Given the description of an element on the screen output the (x, y) to click on. 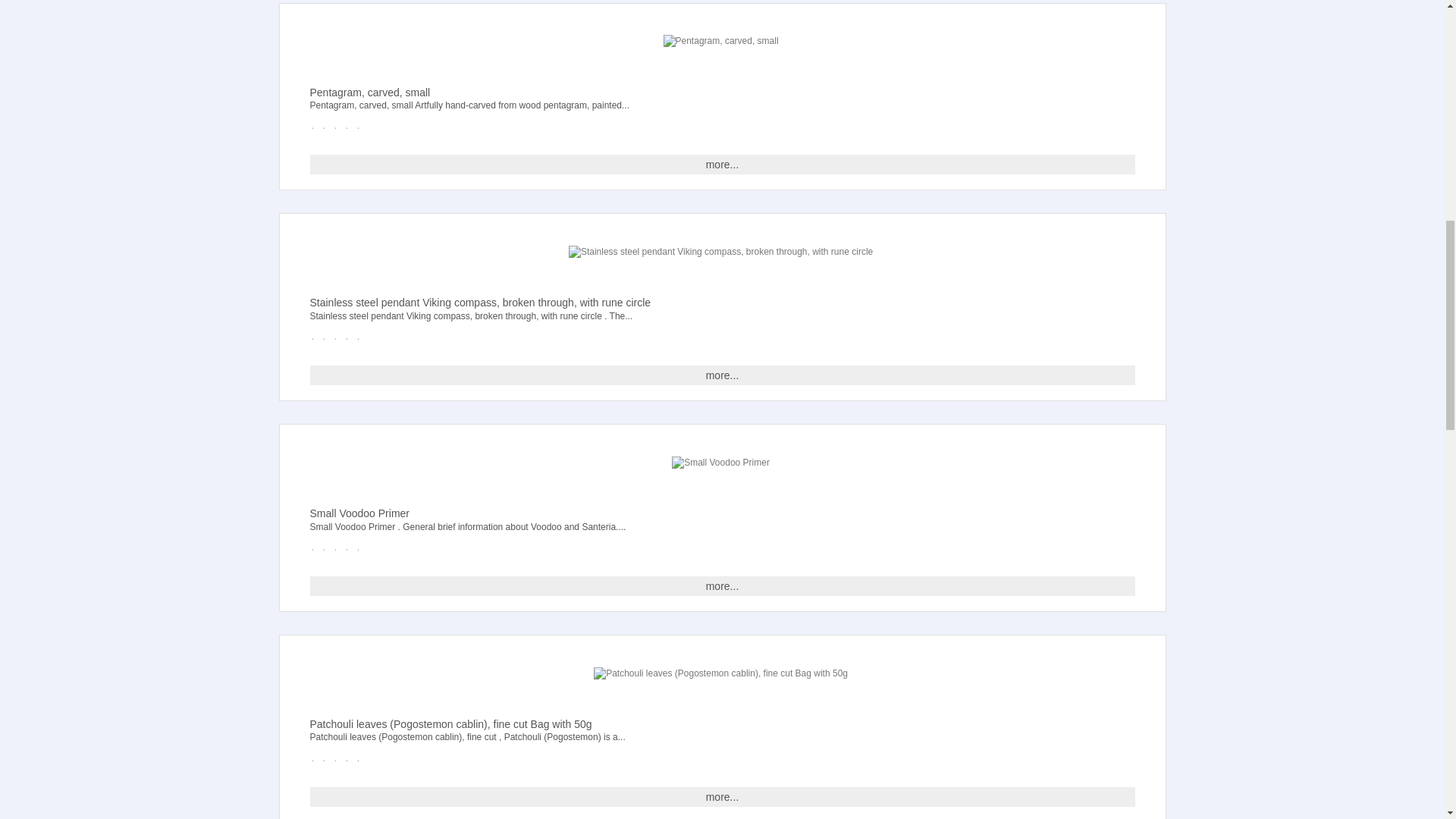
Pentagram, carved, small (720, 41)
Small Voodoo Primer (720, 462)
